Given the description of an element on the screen output the (x, y) to click on. 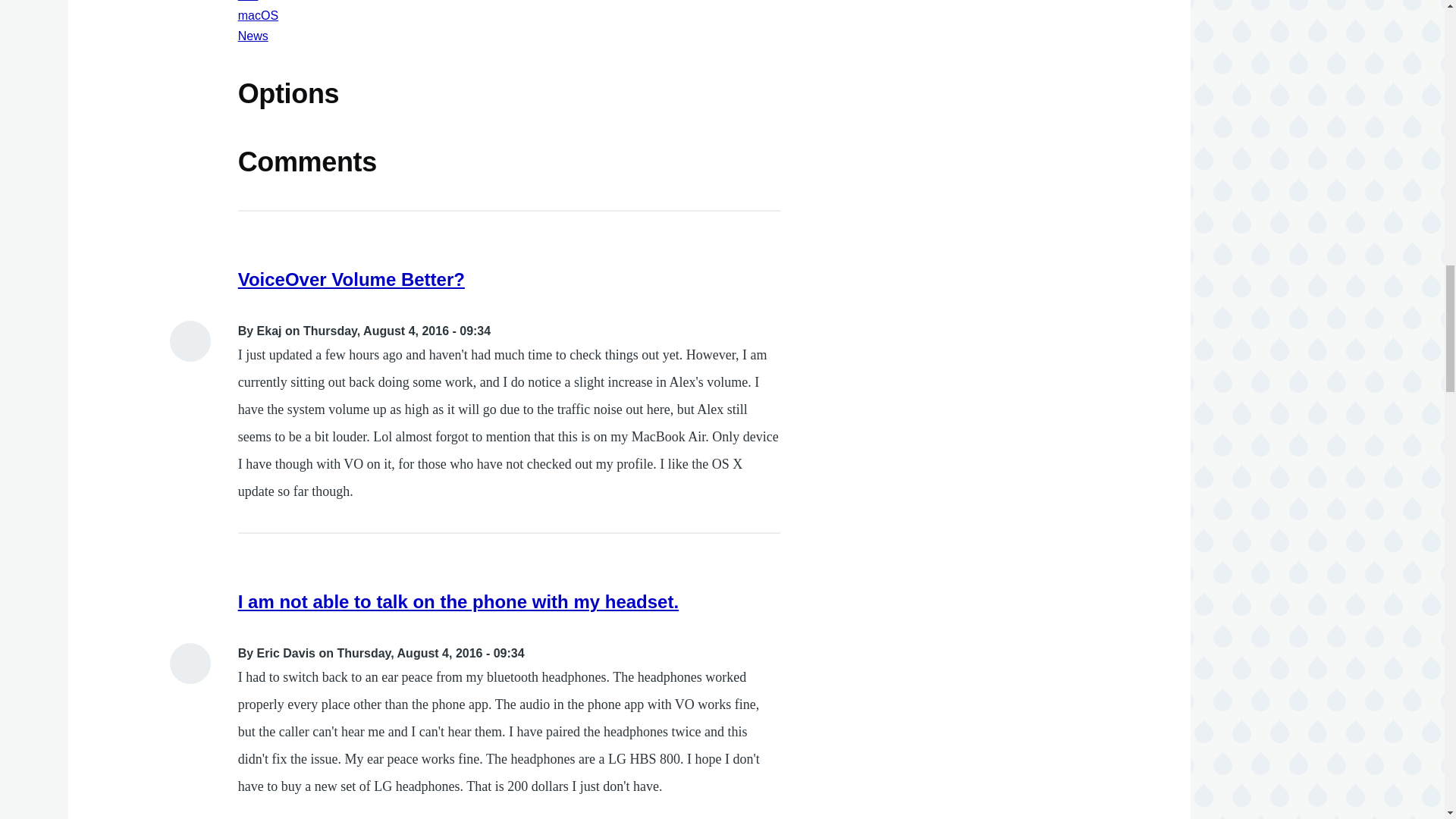
iOS (248, 0)
macOS (258, 15)
News (252, 35)
VoiceOver Volume Better? (351, 279)
I am not able to talk on the phone with my headset. (458, 601)
